Given the description of an element on the screen output the (x, y) to click on. 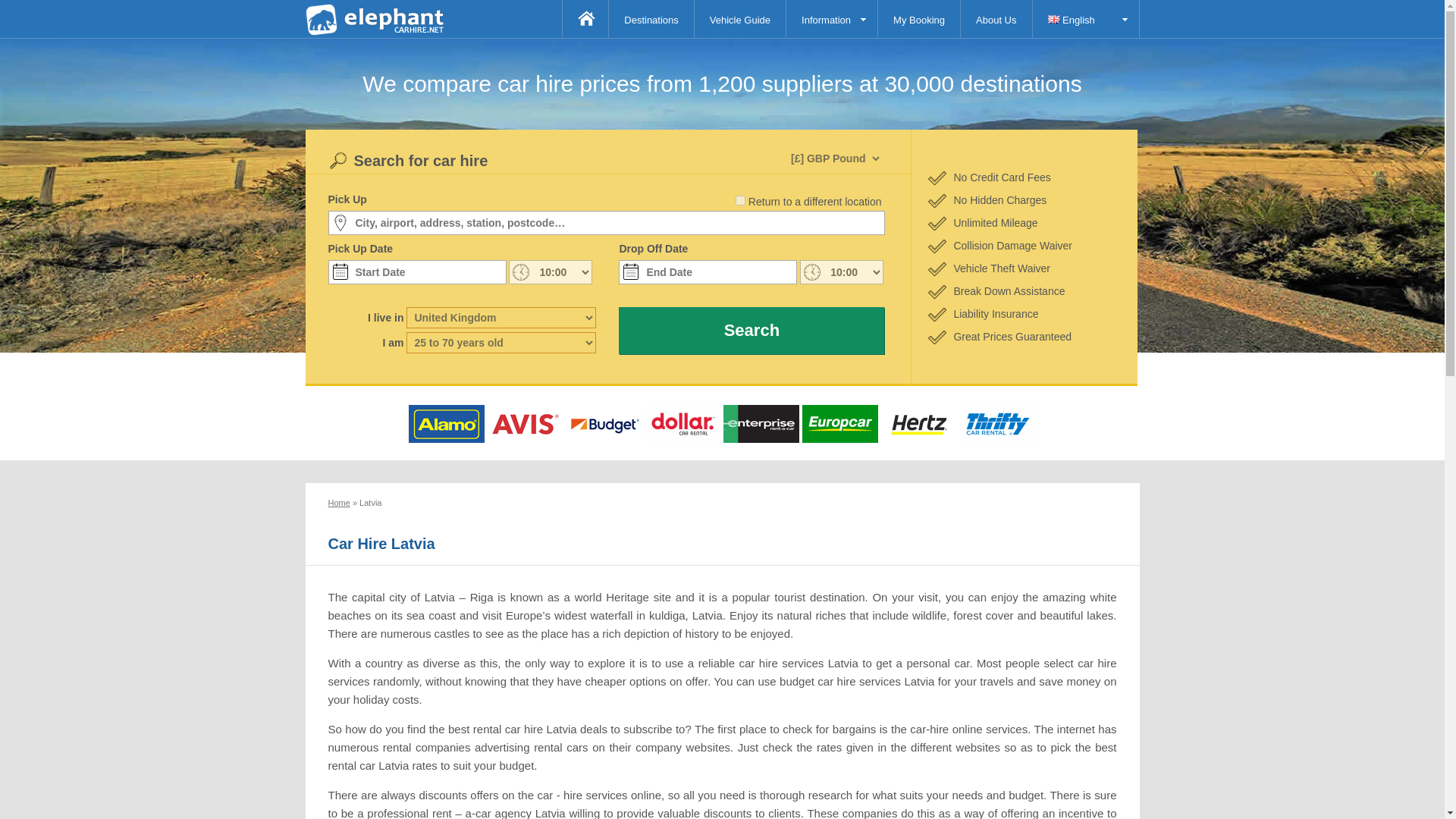
About Us (995, 18)
Search (750, 330)
My Booking (918, 18)
Destinations (651, 18)
Home (338, 501)
English (1085, 18)
Information (831, 18)
Vehicle Guide (740, 18)
on (740, 200)
